Given the description of an element on the screen output the (x, y) to click on. 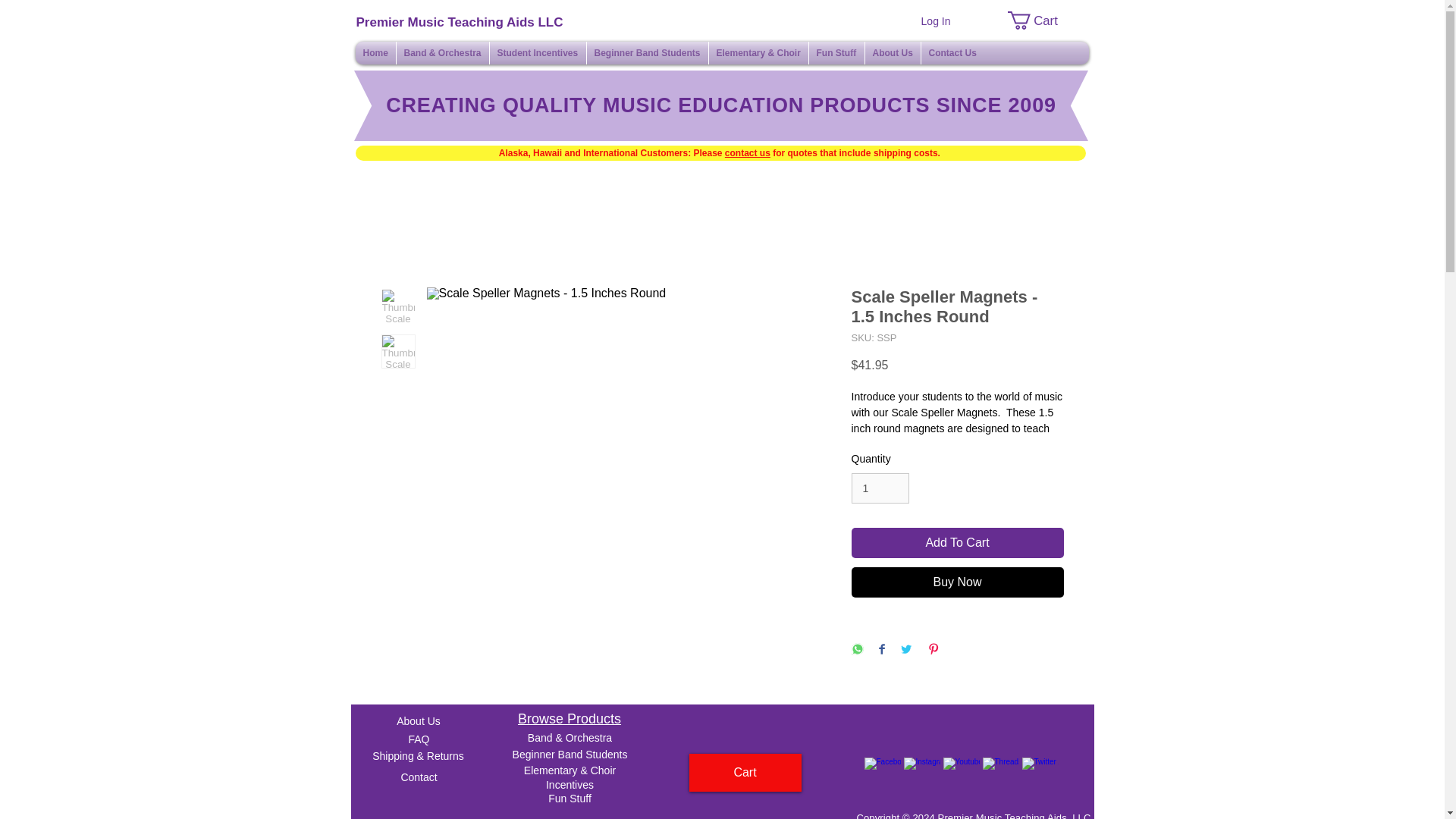
Premier Music Teaching Aids LLC (459, 22)
Contact Us (952, 52)
Cart (1041, 20)
Buy Now (956, 582)
Fun Stuff (835, 52)
Home (374, 52)
Add To Cart (956, 542)
1 (879, 488)
Cart (1041, 20)
Student Incentives (537, 52)
